Given the description of an element on the screen output the (x, y) to click on. 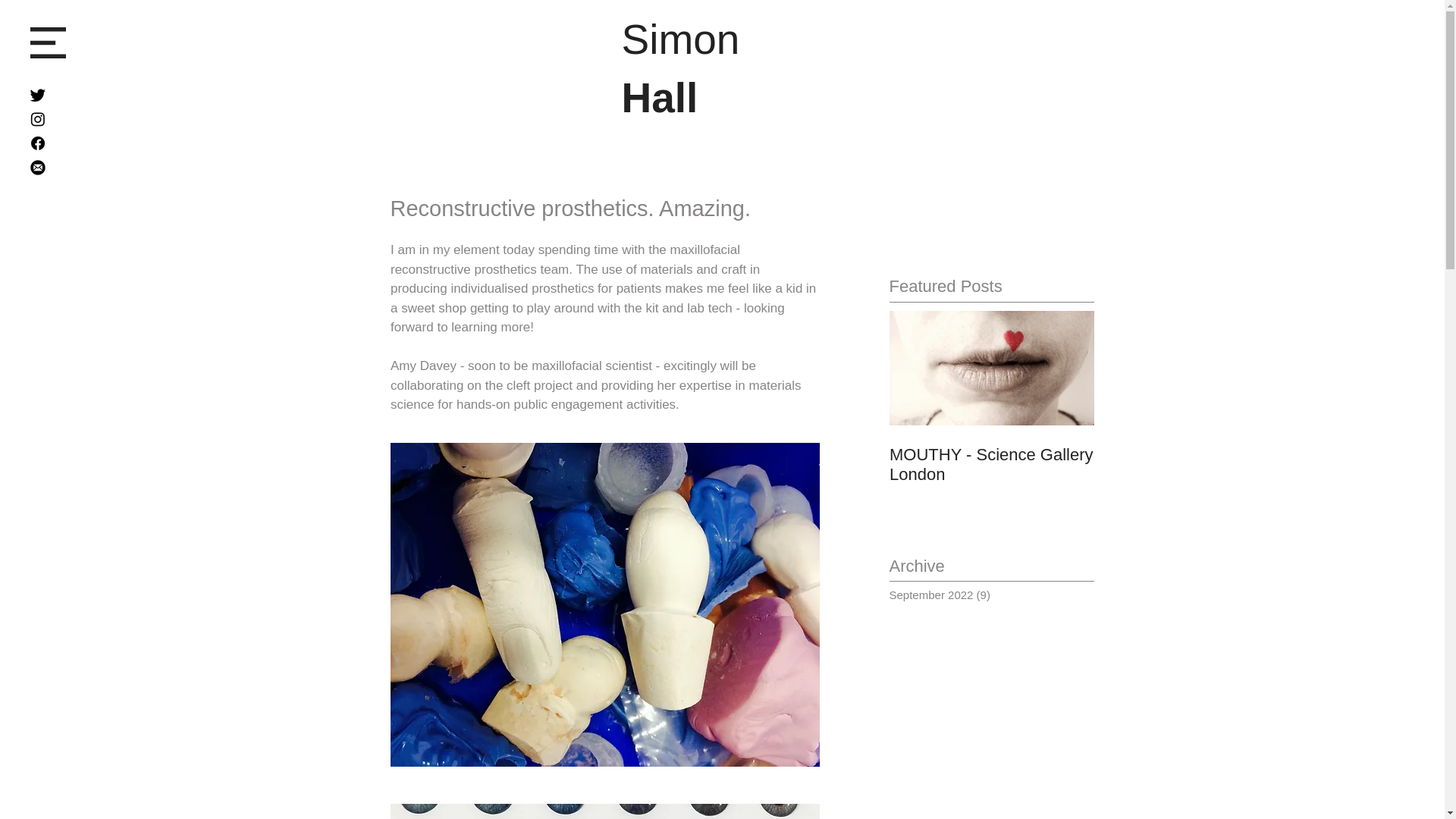
MOUTHY - Science Gallery London (990, 464)
Simon Hall (680, 68)
MOUTHY - Science Gallery London (990, 429)
MOUTHY - Science Gallery London (990, 429)
